Given the description of an element on the screen output the (x, y) to click on. 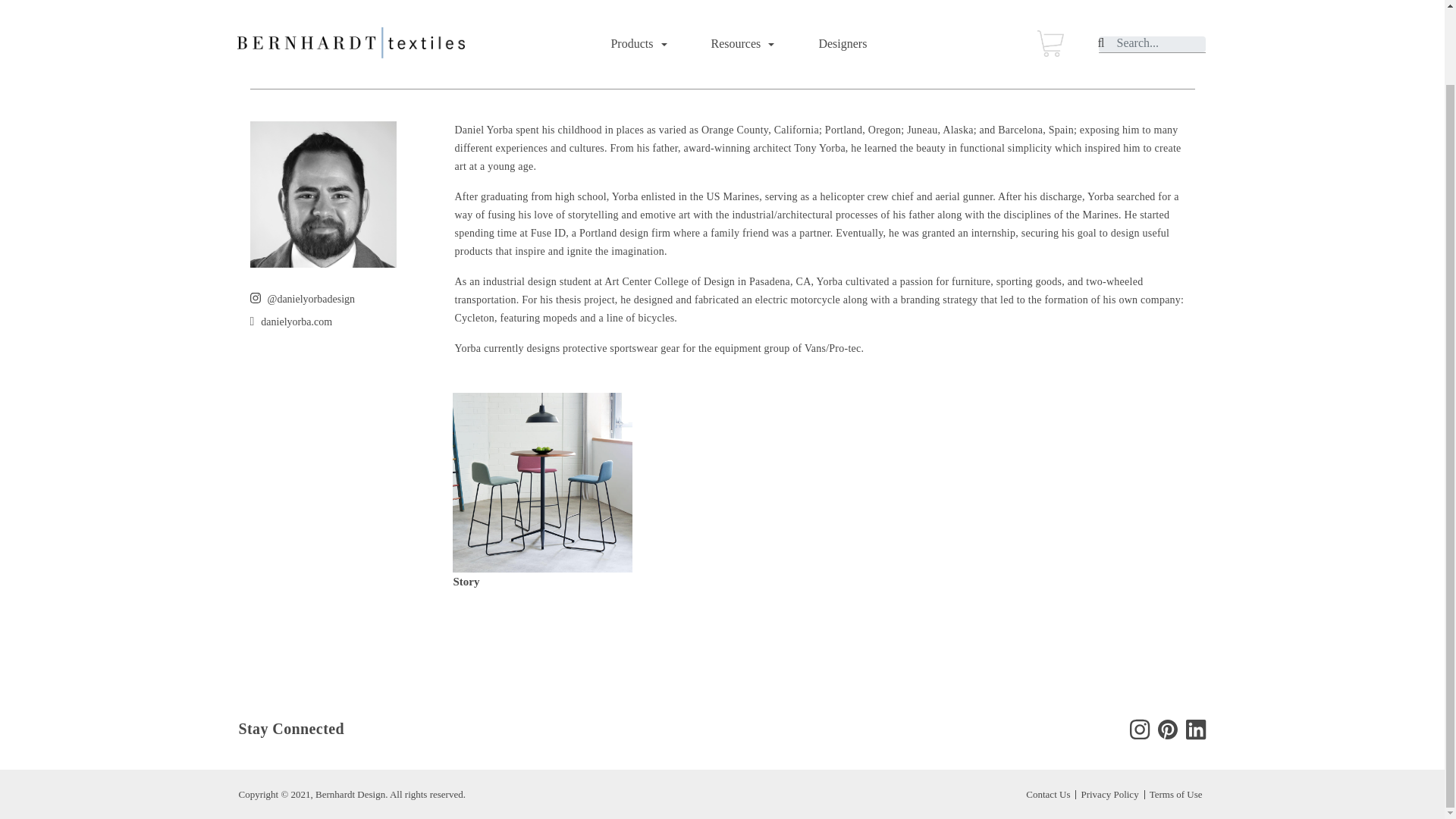
Stay Connected (290, 730)
danielyorba.com (295, 321)
Story (465, 581)
Home (264, 3)
Designers (312, 3)
